Given the description of an element on the screen output the (x, y) to click on. 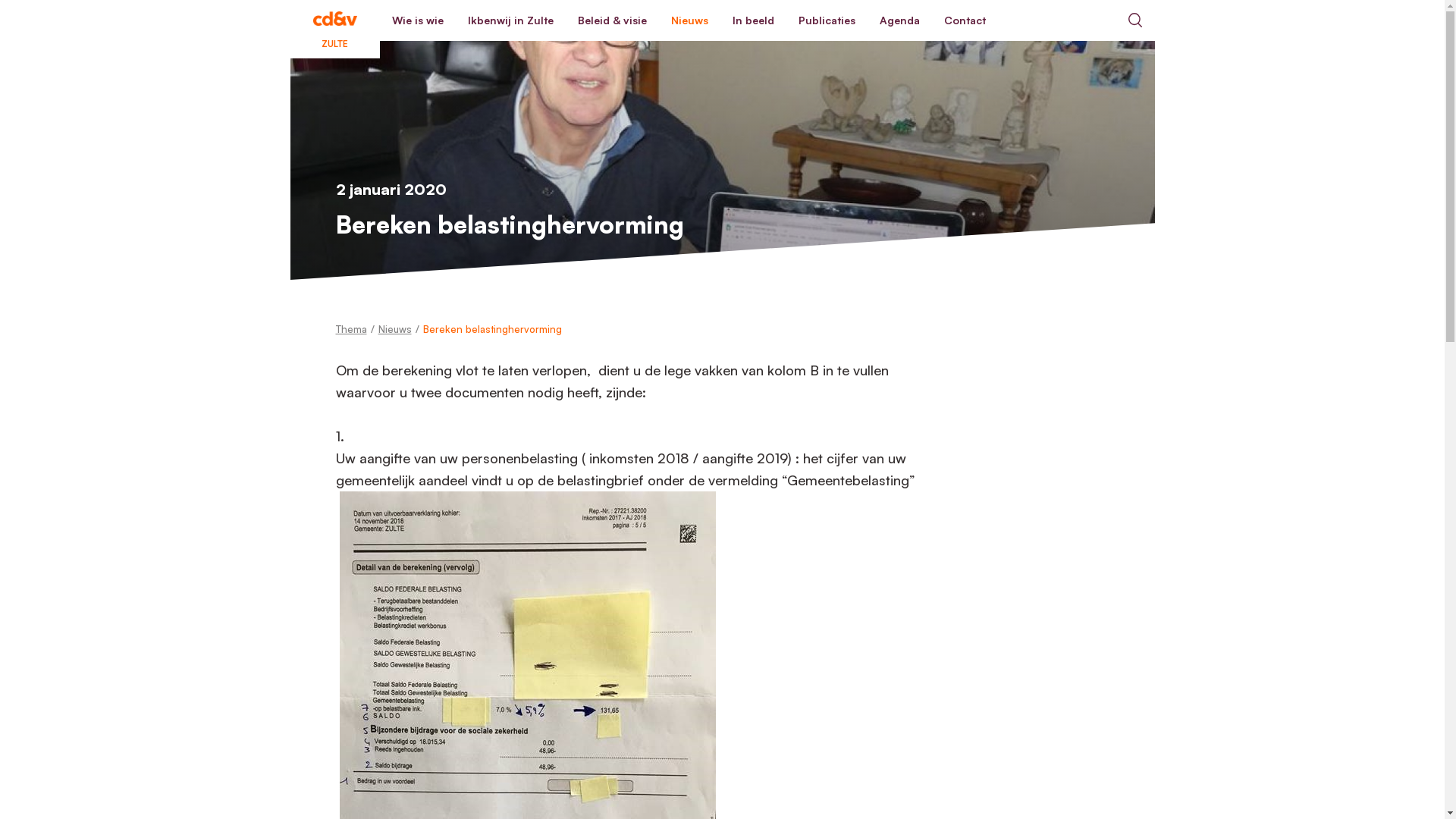
Search Element type: hover (1134, 19)
Agenda Element type: text (899, 20)
In beeld Element type: text (753, 20)
ZULTE Element type: text (334, 19)
Publicaties Element type: text (825, 20)
Thema Element type: text (350, 329)
Nieuws Element type: text (394, 329)
Nieuws Element type: text (688, 20)
Wie is wie Element type: text (417, 20)
Contact Element type: text (964, 20)
Beleid & visie Element type: text (611, 20)
Ikbenwij in Zulte Element type: text (509, 20)
